Given the description of an element on the screen output the (x, y) to click on. 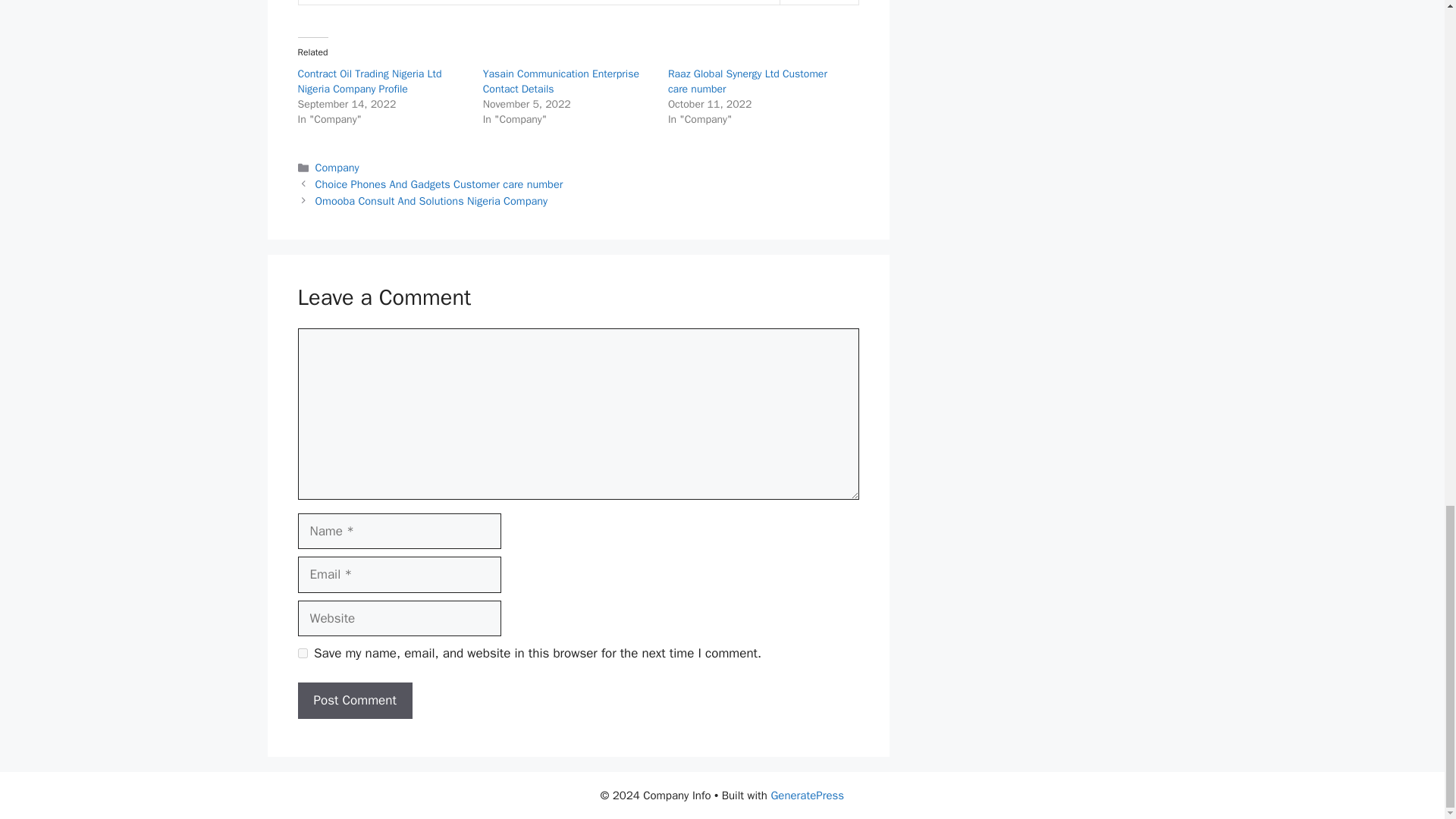
Previous (439, 183)
Yasain Communication Enterprise Contact Details (561, 81)
Raaz Global Synergy Ltd Customer care number (747, 81)
Raaz Global Synergy Ltd Customer care number (747, 81)
Omooba Consult And Solutions Nigeria Company (431, 201)
Post Comment (354, 700)
Company (337, 167)
Yasain Communication Enterprise Contact Details (561, 81)
Contract Oil Trading Nigeria Ltd Nigeria Company Profile (369, 81)
yes (302, 653)
Post Comment (354, 700)
Choice Phones And Gadgets Customer care number (439, 183)
GeneratePress (807, 795)
Contract Oil Trading Nigeria Ltd Nigeria Company Profile (369, 81)
Next (431, 201)
